Given the description of an element on the screen output the (x, y) to click on. 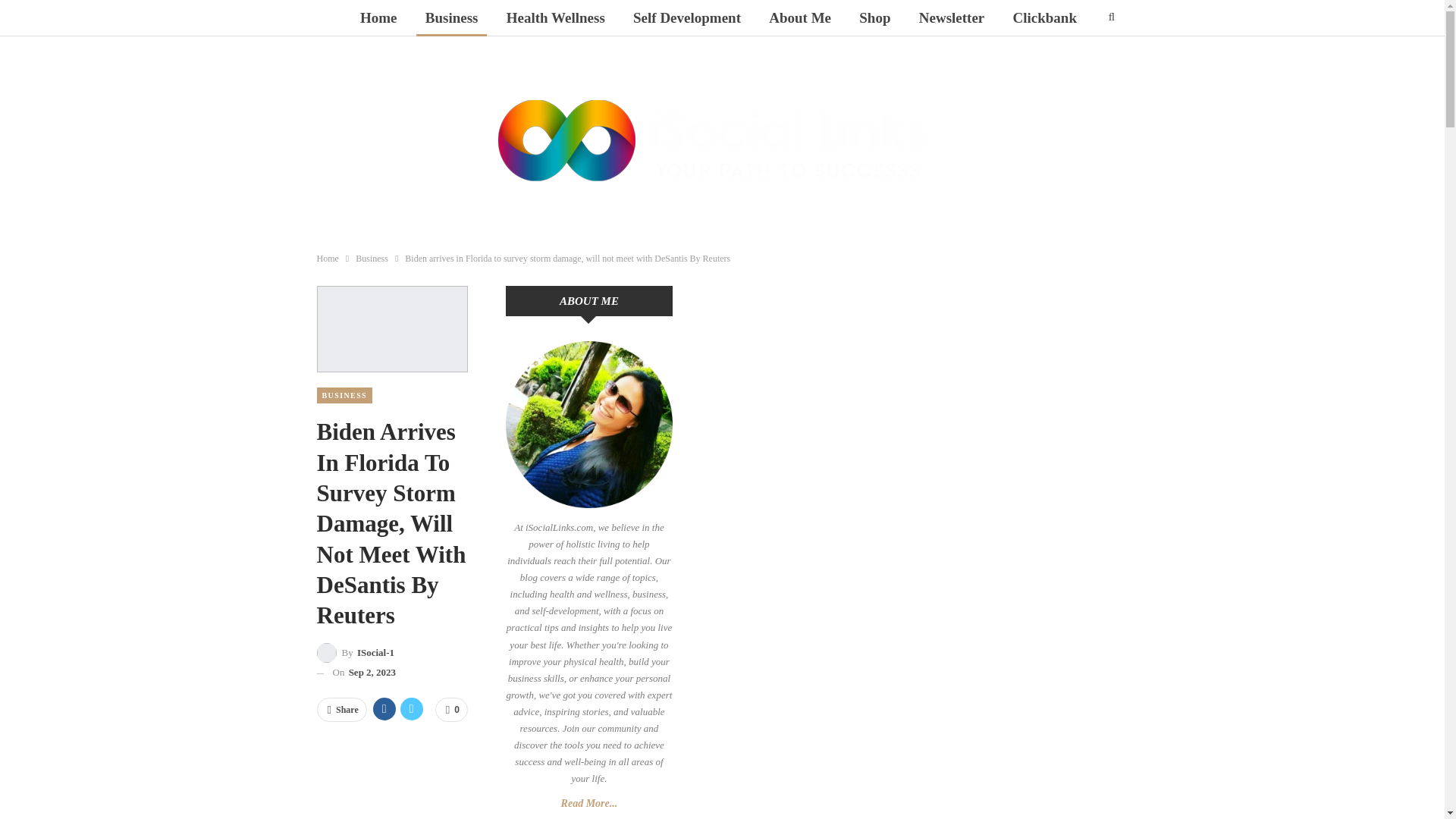
Home (378, 18)
0 (451, 709)
BUSINESS (344, 395)
Self Development (686, 18)
Clickbank (1045, 18)
Business (371, 258)
About Me (800, 18)
Business (451, 18)
Home (328, 258)
Digistore (718, 54)
Health Wellness (555, 18)
Browse Author Articles (355, 652)
Newsletter (952, 18)
By ISocial-1 (355, 652)
Shop (874, 18)
